Given the description of an element on the screen output the (x, y) to click on. 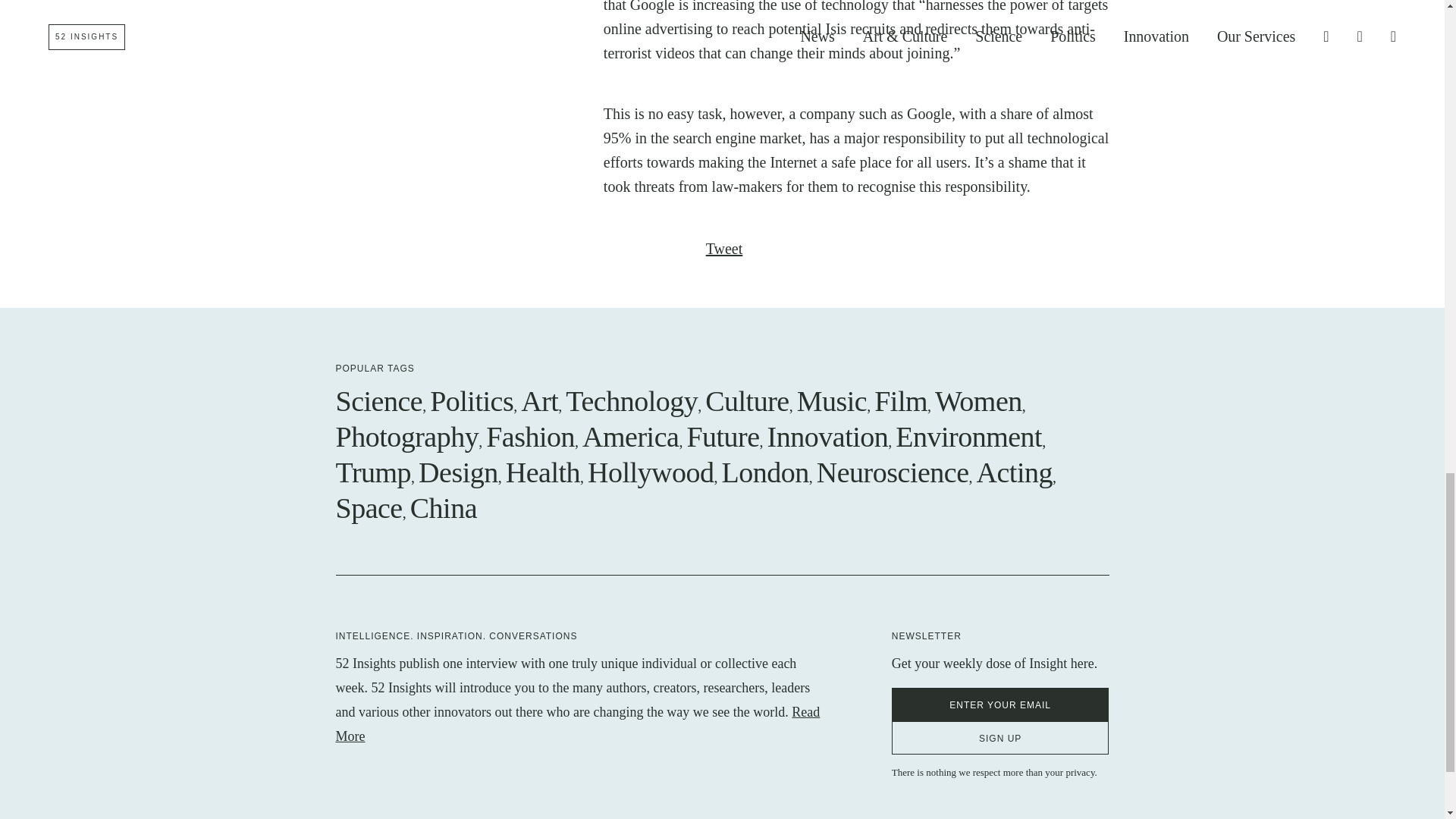
Environment (968, 436)
Health (542, 472)
Acting (1014, 472)
Sign Up (1000, 737)
Photography (406, 436)
Art (539, 400)
Music (831, 400)
London (765, 472)
Science (378, 400)
Women (978, 400)
Culture (746, 400)
Neuroscience (892, 472)
Design (458, 472)
Trump (372, 472)
Innovation (827, 436)
